Given the description of an element on the screen output the (x, y) to click on. 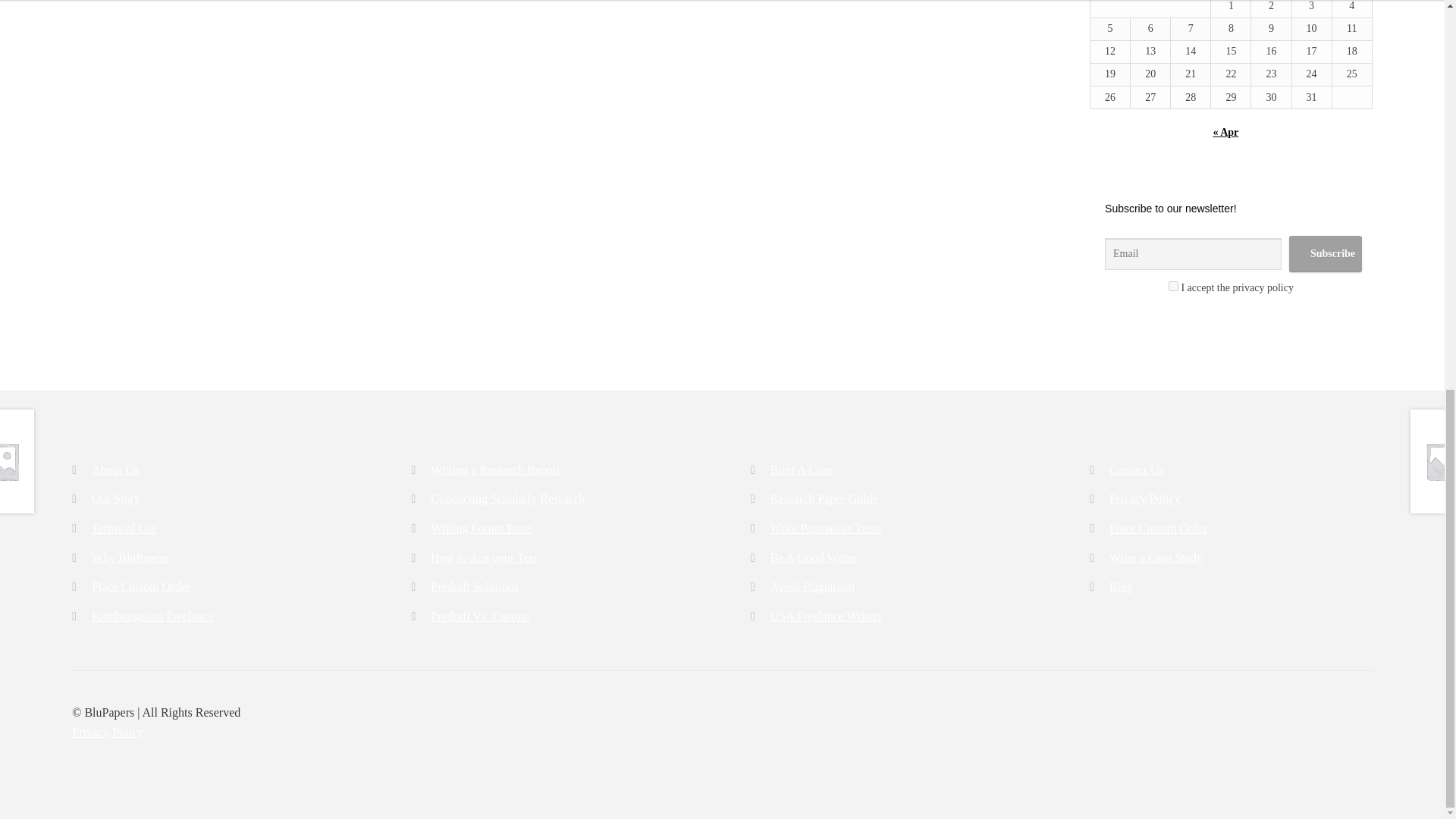
Terms of Use (124, 527)
Our Story (115, 498)
Conducting Scholarly Research (507, 498)
Place Custom Order (140, 585)
Why BluPapers (129, 557)
on (1173, 286)
Writing a Research Report (494, 469)
Subscribe (1324, 253)
Subscribe (1324, 253)
About Us (114, 469)
